Given the description of an element on the screen output the (x, y) to click on. 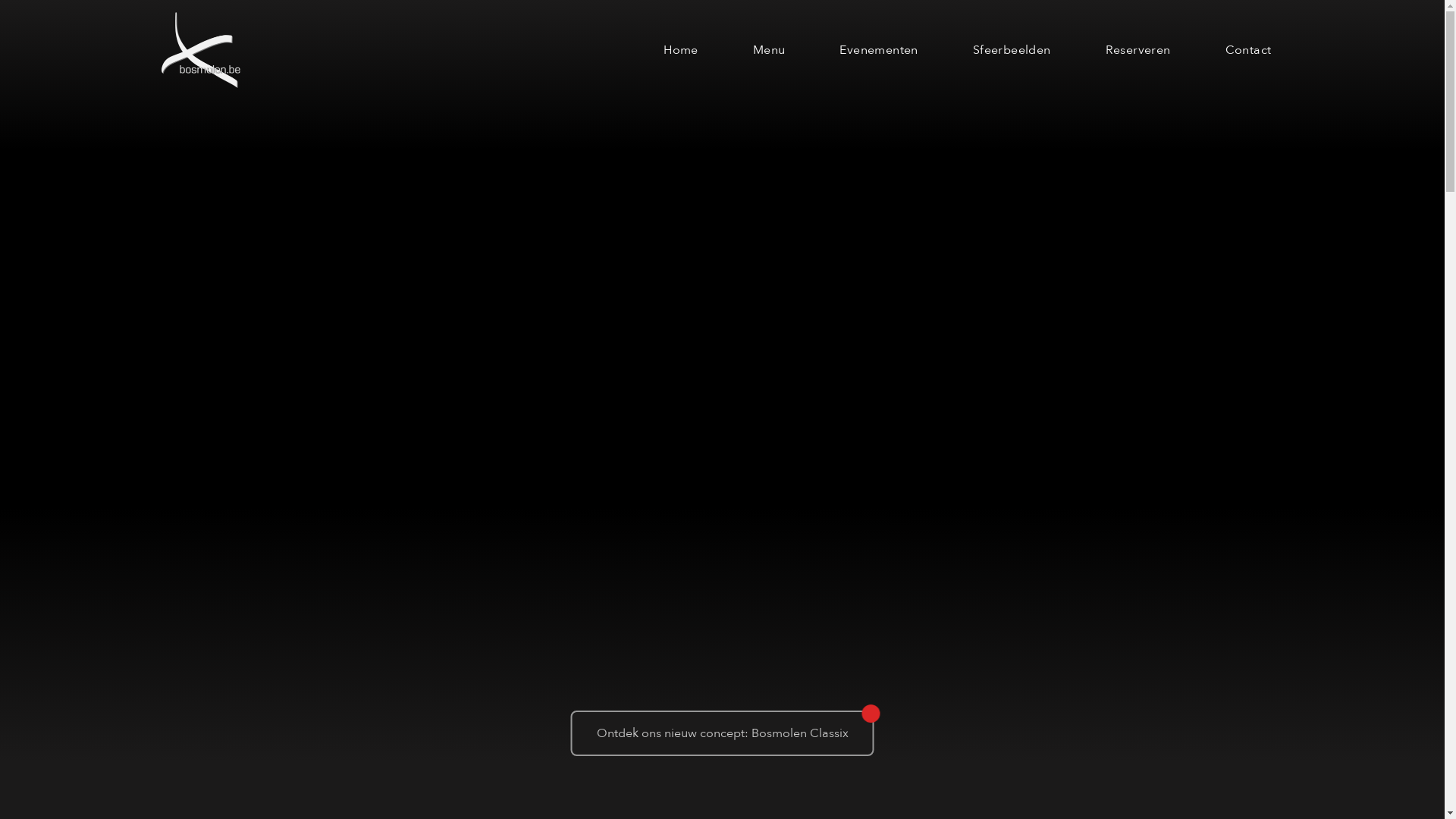
Contact Element type: text (1248, 49)
Sfeerbeelden Element type: text (1011, 49)
Menu Element type: text (768, 49)
Home Element type: text (680, 49)
Evenementen Element type: text (878, 49)
Ontdek ons nieuw concept: Bosmolen Classix Element type: text (721, 733)
Reserveren Element type: text (1138, 49)
